Given the description of an element on the screen output the (x, y) to click on. 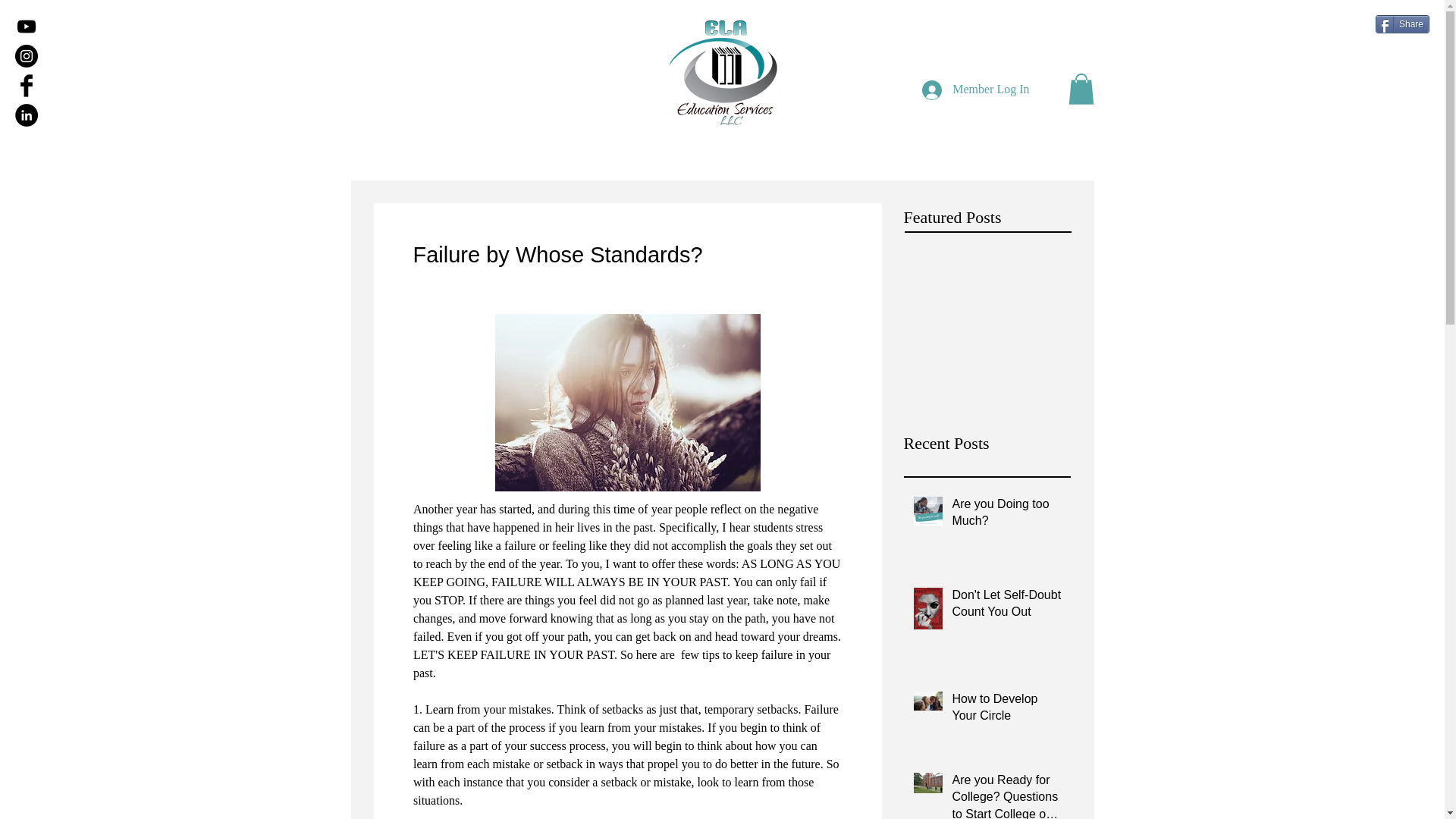
How to Develop Your Circle (1006, 711)
Share (1402, 24)
Don't Let Self-Doubt Count You Out (1006, 607)
Member Log In (975, 90)
Share (1402, 24)
Are you Doing too Much? (1006, 516)
